Given the description of an element on the screen output the (x, y) to click on. 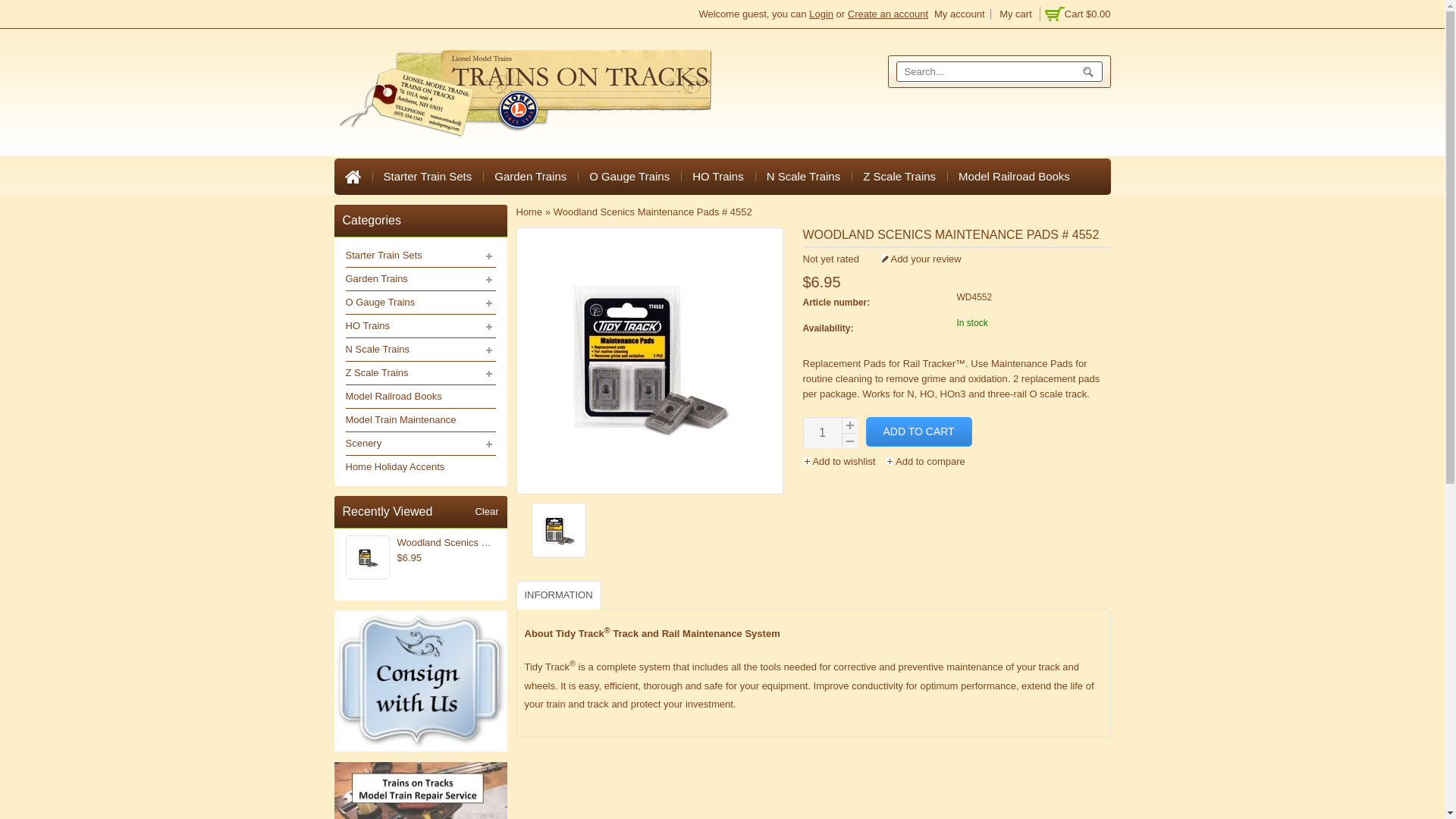
1 (822, 432)
Garden Trains (530, 176)
Login (820, 13)
O Gauge Trains (629, 176)
Starter Train Sets (427, 176)
My cart (1074, 14)
Starter Train Sets (427, 176)
O Gauge Trains (629, 176)
My cart (1015, 13)
My account (959, 13)
